Given the description of an element on the screen output the (x, y) to click on. 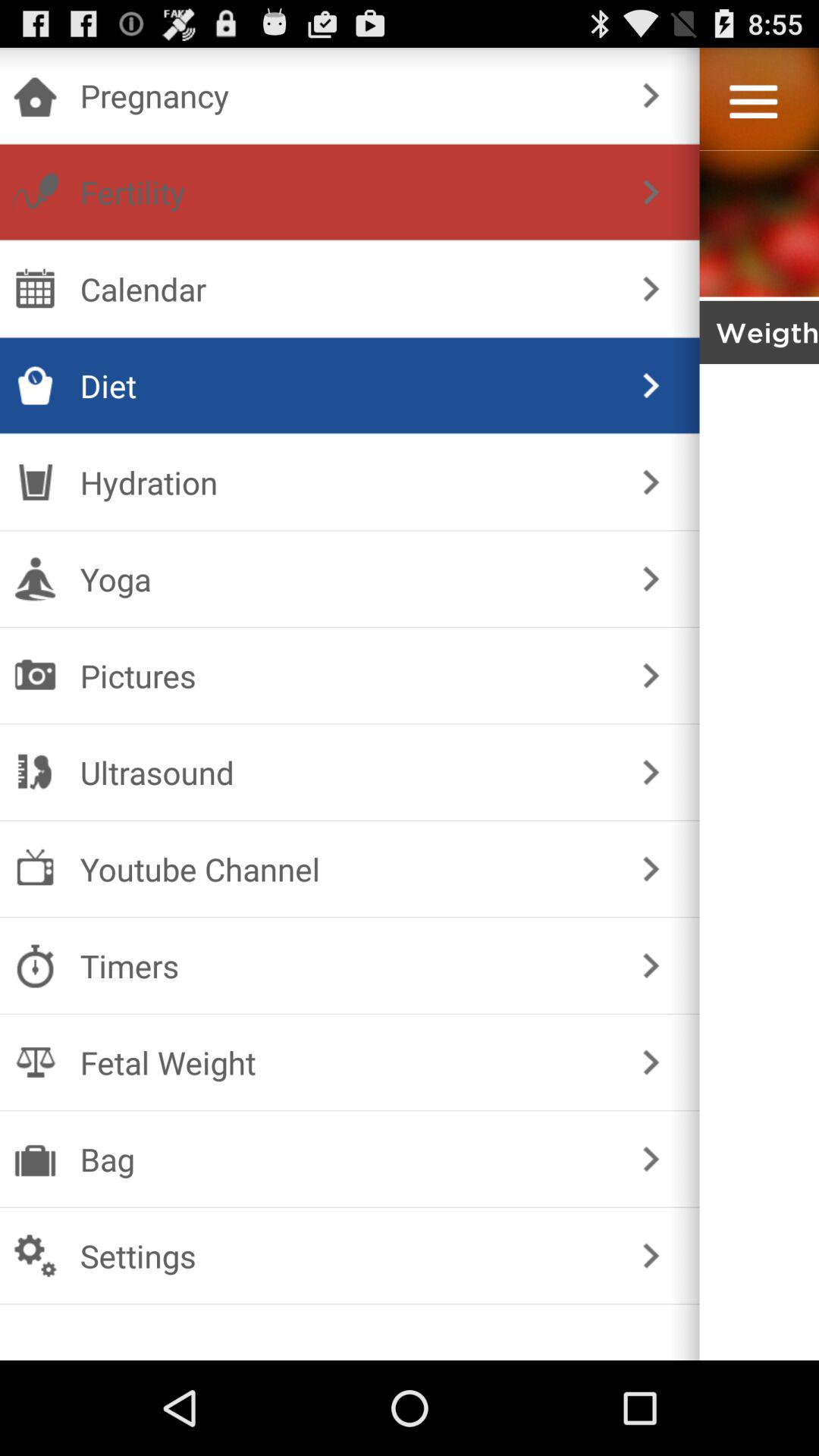
turn off checkbox below the pictures icon (346, 771)
